Given the description of an element on the screen output the (x, y) to click on. 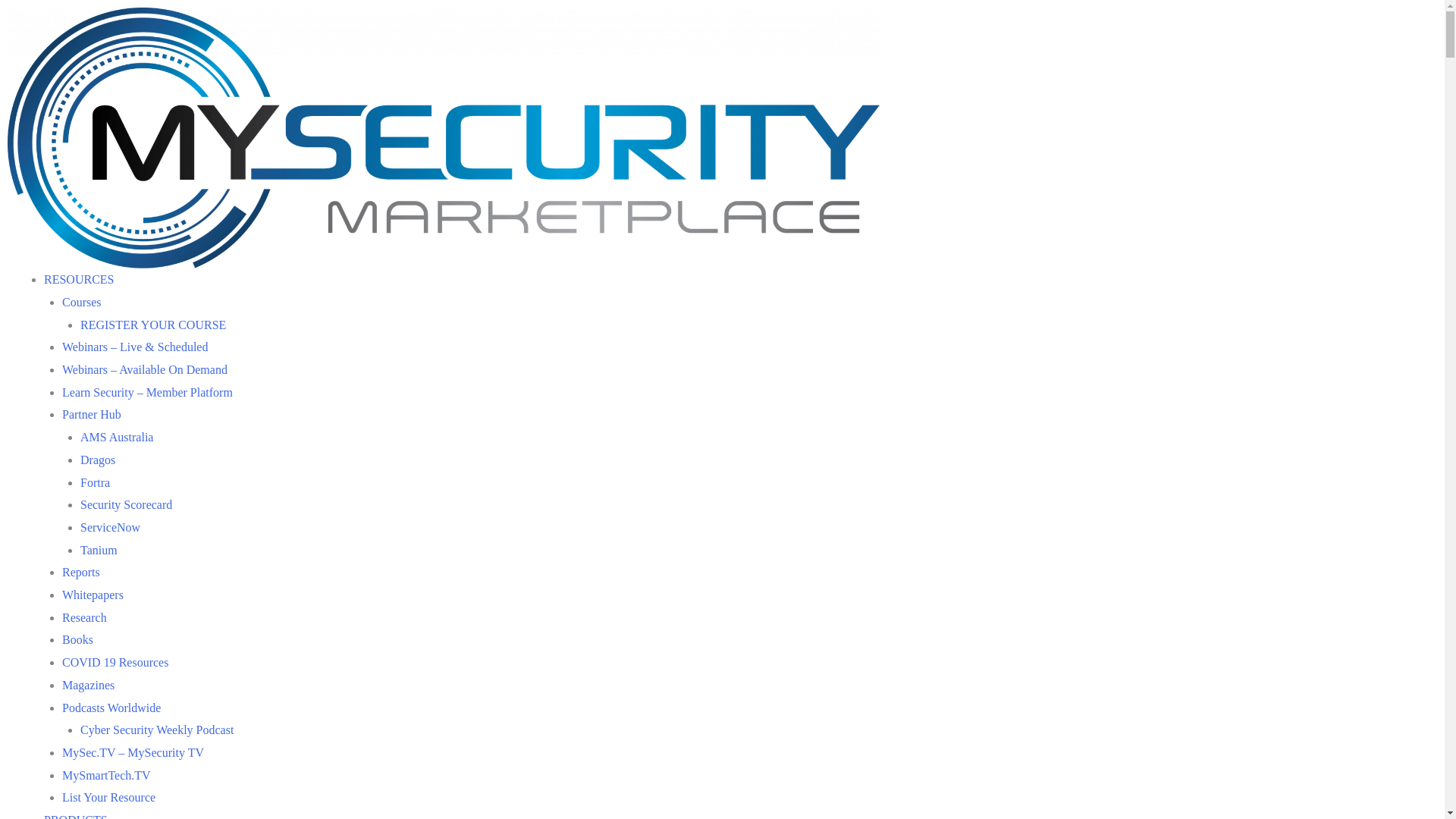
Partner Hub Element type: text (91, 413)
Fortra Element type: text (94, 482)
COVID 19 Resources Element type: text (115, 661)
MySmartTech.TV Element type: text (106, 774)
Podcasts Worldwide Element type: text (111, 707)
Books Element type: text (77, 639)
Security Scorecard Element type: text (126, 504)
RESOURCES Element type: text (78, 279)
AMS Australia Element type: text (116, 436)
Tanium Element type: text (98, 549)
Research Element type: text (84, 617)
Whitepapers Element type: text (92, 594)
Courses Element type: text (81, 301)
ServiceNow Element type: text (110, 526)
Dragos Element type: text (97, 459)
Cyber Security Weekly Podcast Element type: text (156, 729)
REGISTER YOUR COURSE Element type: text (152, 324)
Reports Element type: text (81, 571)
List Your Resource Element type: text (108, 796)
Magazines Element type: text (88, 684)
